Given the description of an element on the screen output the (x, y) to click on. 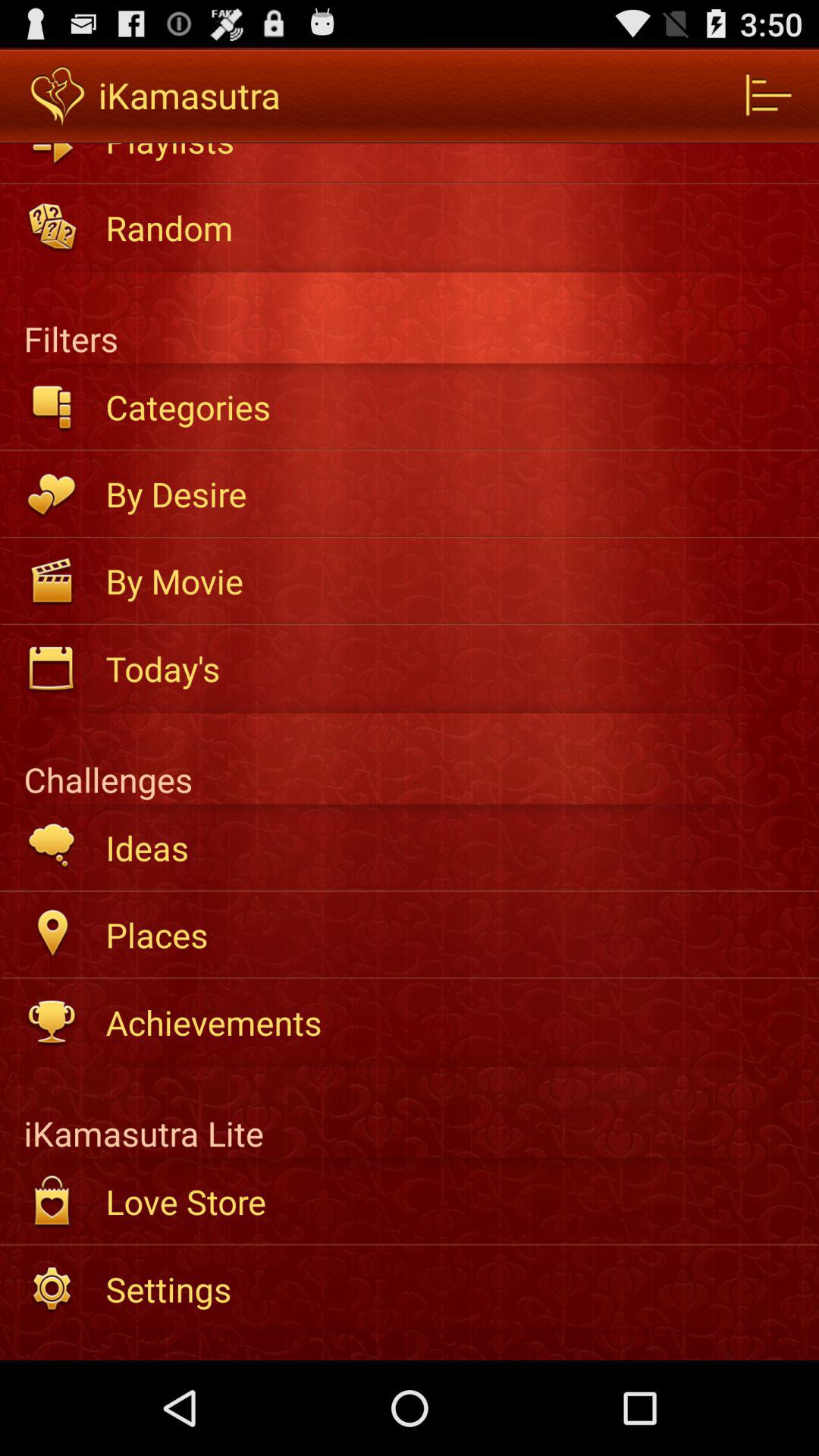
launch icon above the challenges item (452, 668)
